Given the description of an element on the screen output the (x, y) to click on. 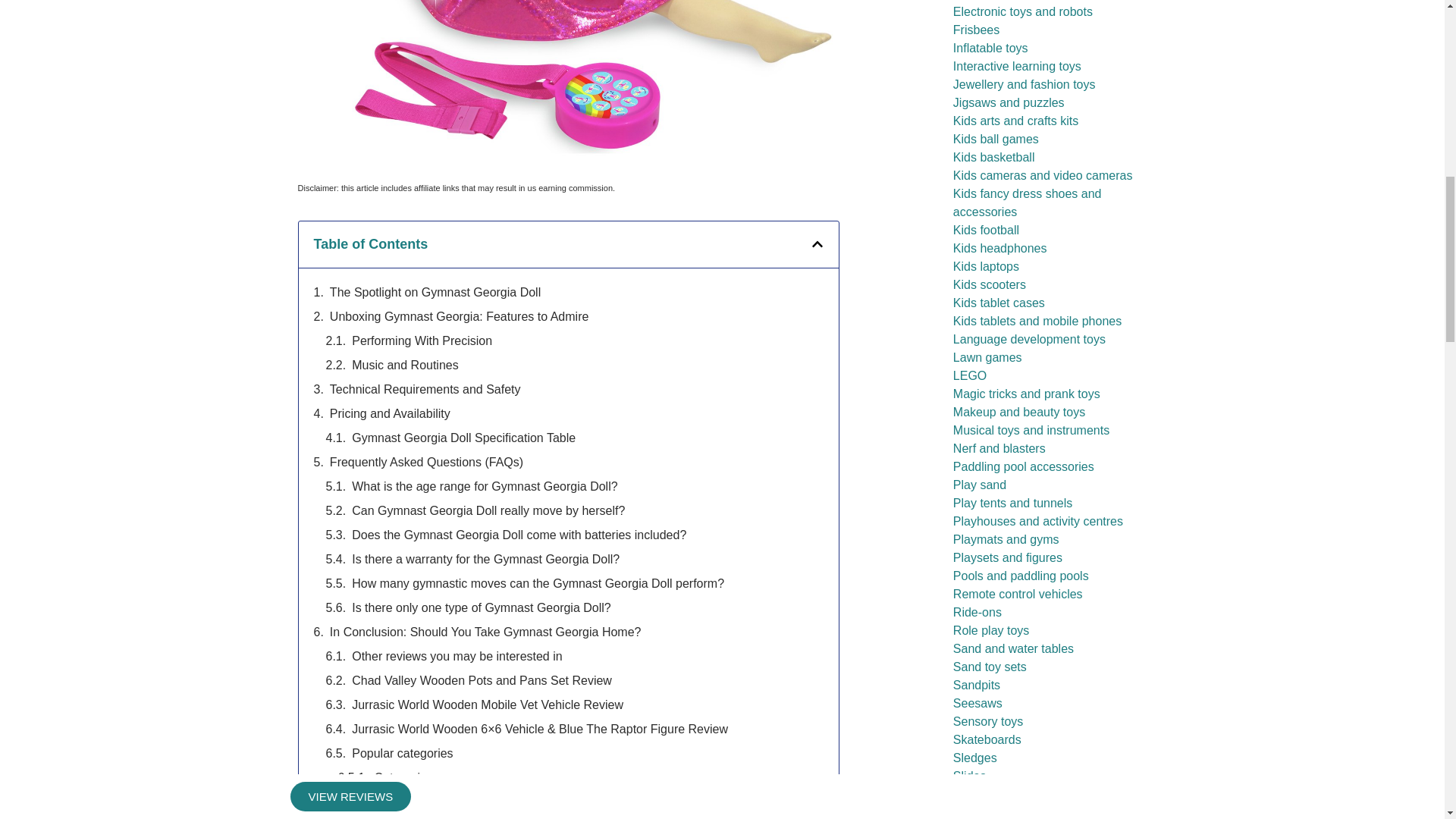
Technical Requirements and Safety (425, 389)
In Conclusion: Should You Take Gymnast Georgia Home? (486, 632)
Performing With Precision (422, 341)
Other reviews you may be interested in (457, 656)
Categories (403, 778)
Music and Routines (405, 365)
Does the Gymnast Georgia Doll come with batteries included? (518, 535)
Chad Valley Wooden Pots and Pans Set Review (481, 680)
Gymnast Georgia Doll Specification Table (463, 438)
